Given the description of an element on the screen output the (x, y) to click on. 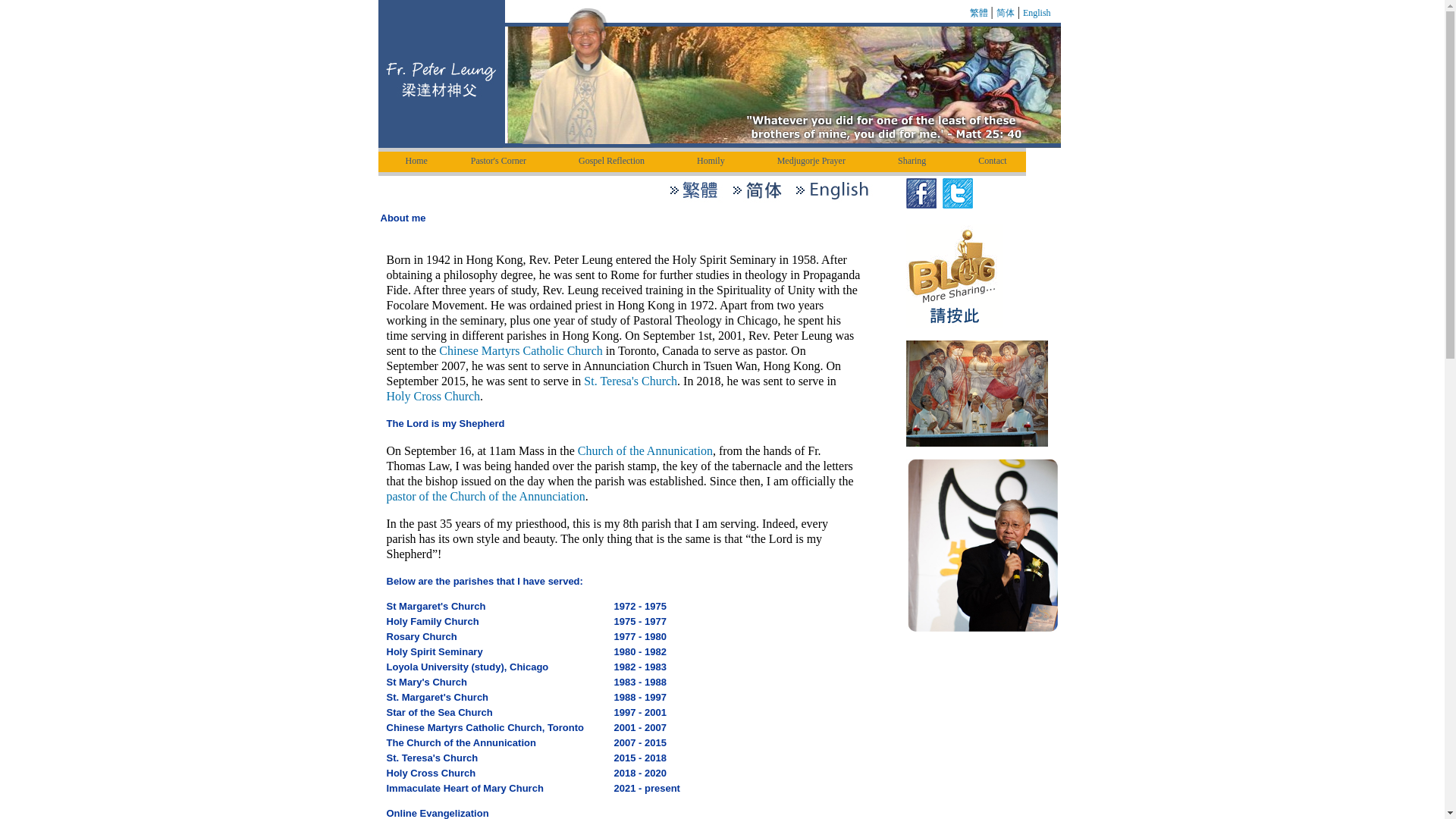
English (1037, 12)
Pastor's Corner (503, 160)
Follow me on Twitter! (957, 193)
Home (417, 160)
Medjugorje Prayer (816, 160)
Follow me on Facebook! (920, 193)
Homily (716, 160)
Gospel Reflection (616, 160)
